Given the description of an element on the screen output the (x, y) to click on. 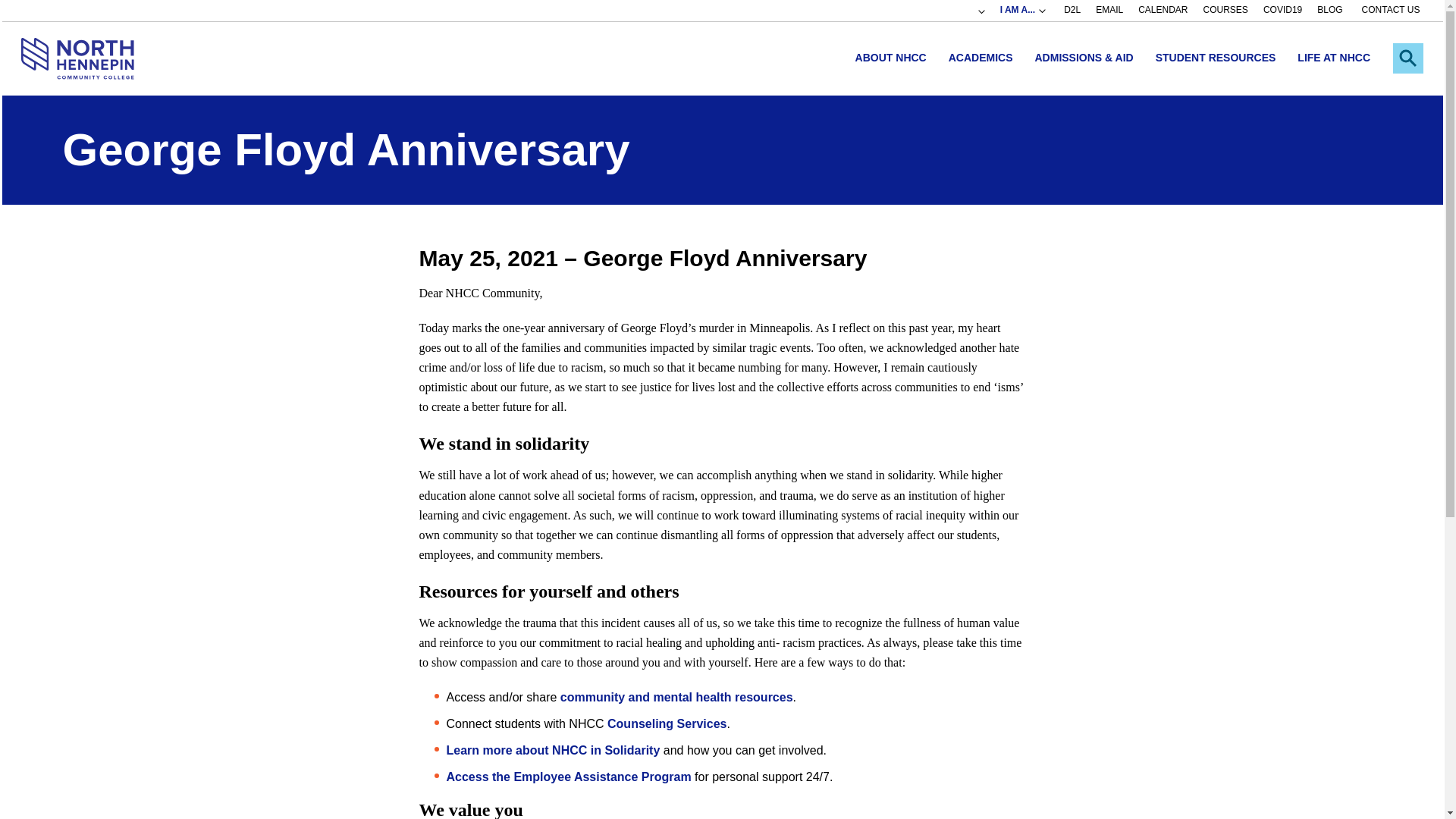
EMAIL (1109, 10)
BLOG (1329, 10)
CALENDAR (1163, 10)
CONTACT US (1391, 10)
ABOUT NHCC (890, 58)
I AM A... (1023, 10)
ACADEMICS (980, 58)
COURSES (1225, 10)
COVID19 (1282, 10)
